Given the description of an element on the screen output the (x, y) to click on. 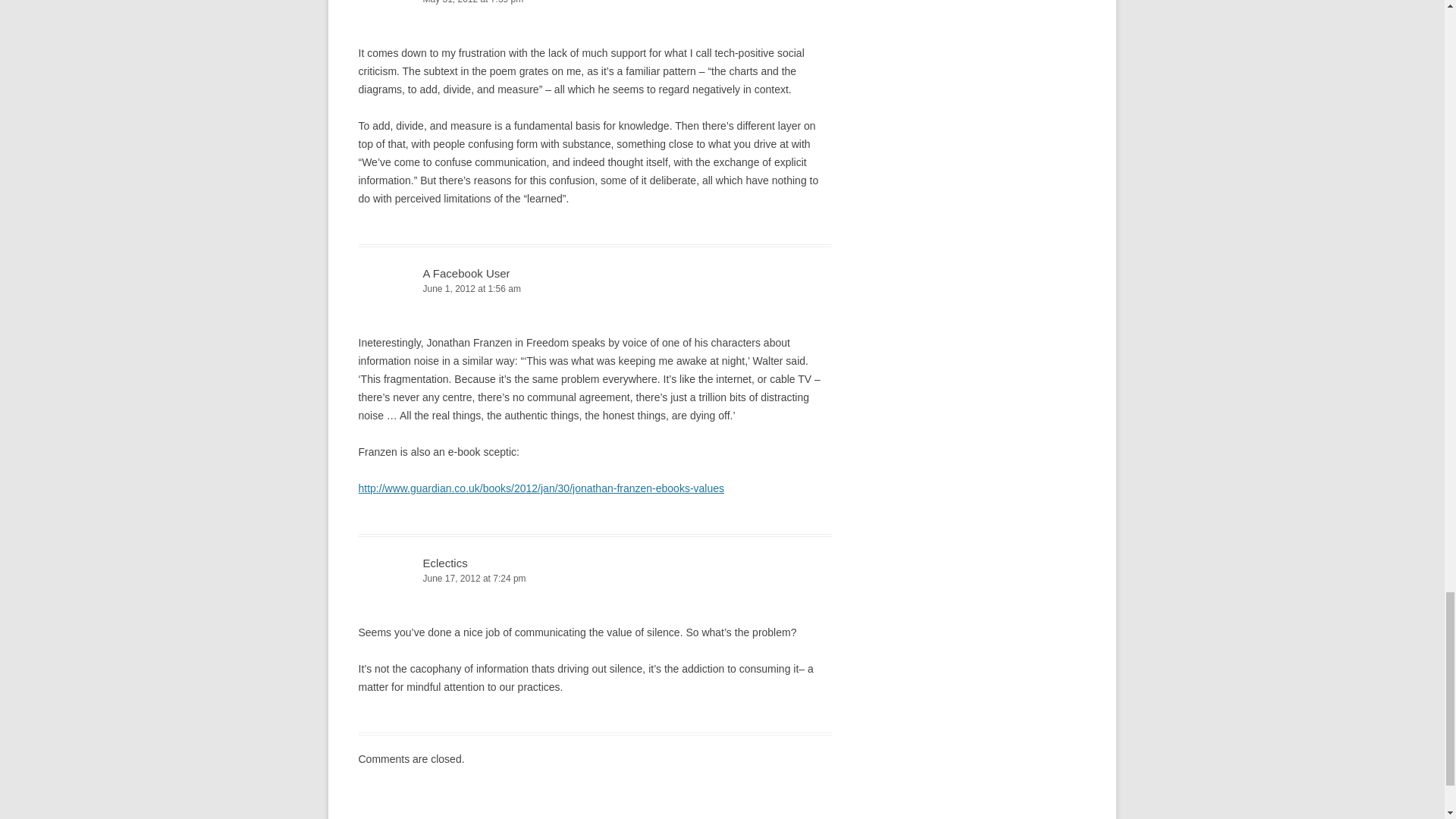
May 31, 2012 at 7:39 pm (594, 3)
June 1, 2012 at 1:56 am (594, 289)
June 17, 2012 at 7:24 pm (594, 578)
